Given the description of an element on the screen output the (x, y) to click on. 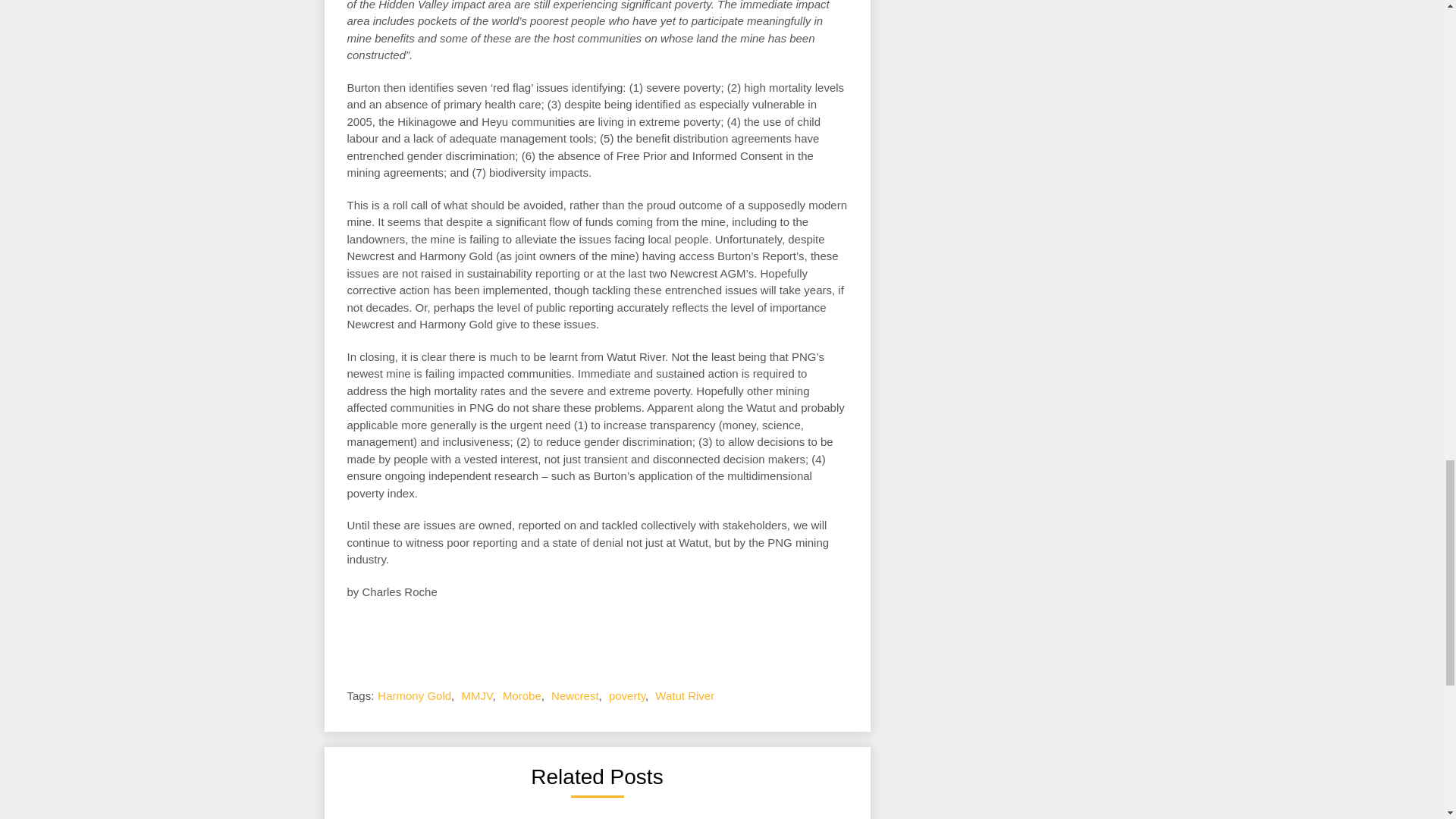
Morobe (521, 695)
Watut River (684, 695)
Harmony Gold (414, 695)
Newcrest (574, 695)
MMJV (476, 695)
poverty (626, 695)
